Given the description of an element on the screen output the (x, y) to click on. 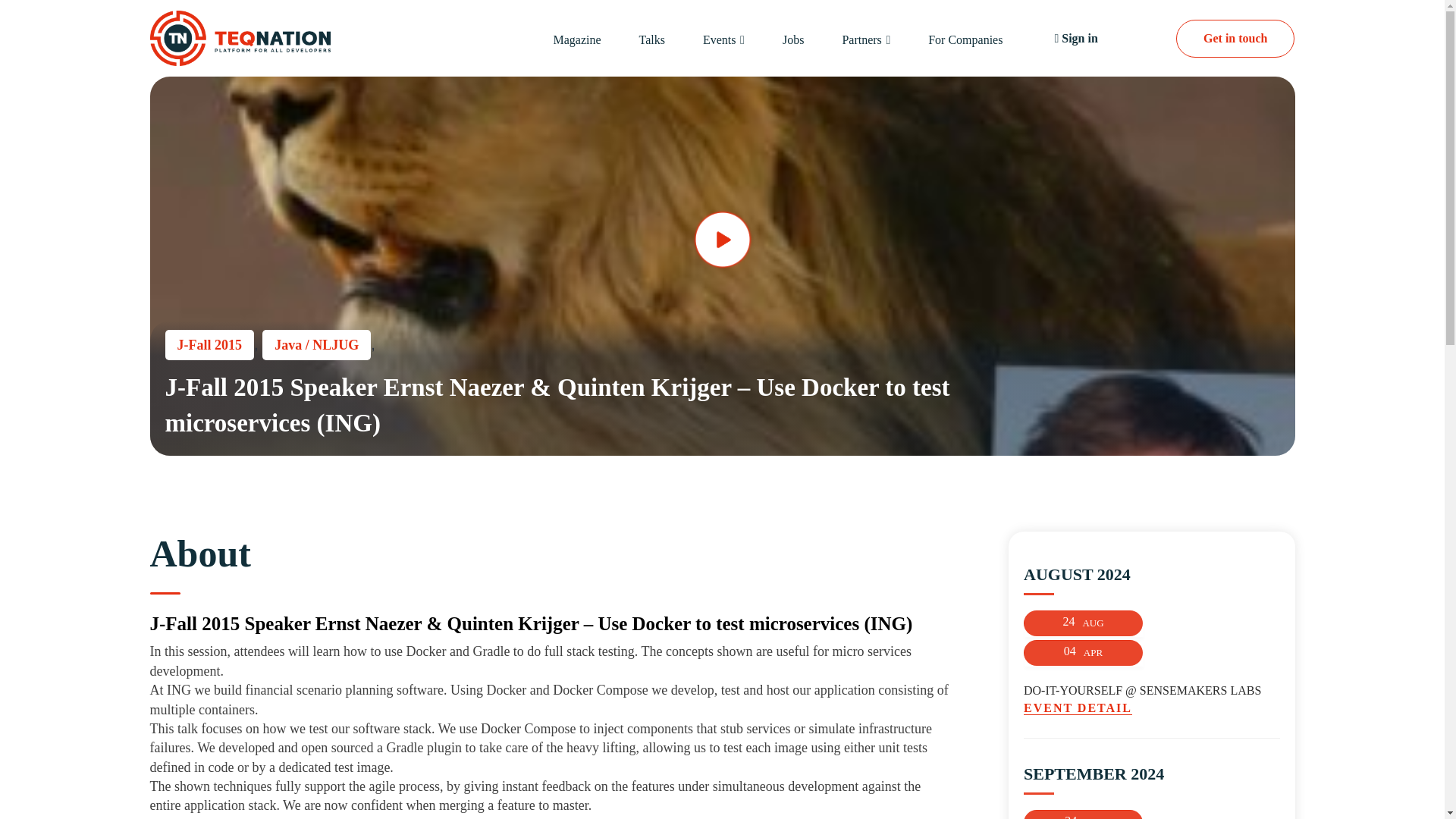
EVENT DETAIL (1151, 707)
Get in touch (1235, 38)
Sign in (1075, 38)
For Companies (965, 39)
Events (719, 39)
Partners (860, 39)
Talks (652, 39)
Magazine (576, 39)
J-Fall 2015 (209, 345)
Jobs (793, 39)
